Given the description of an element on the screen output the (x, y) to click on. 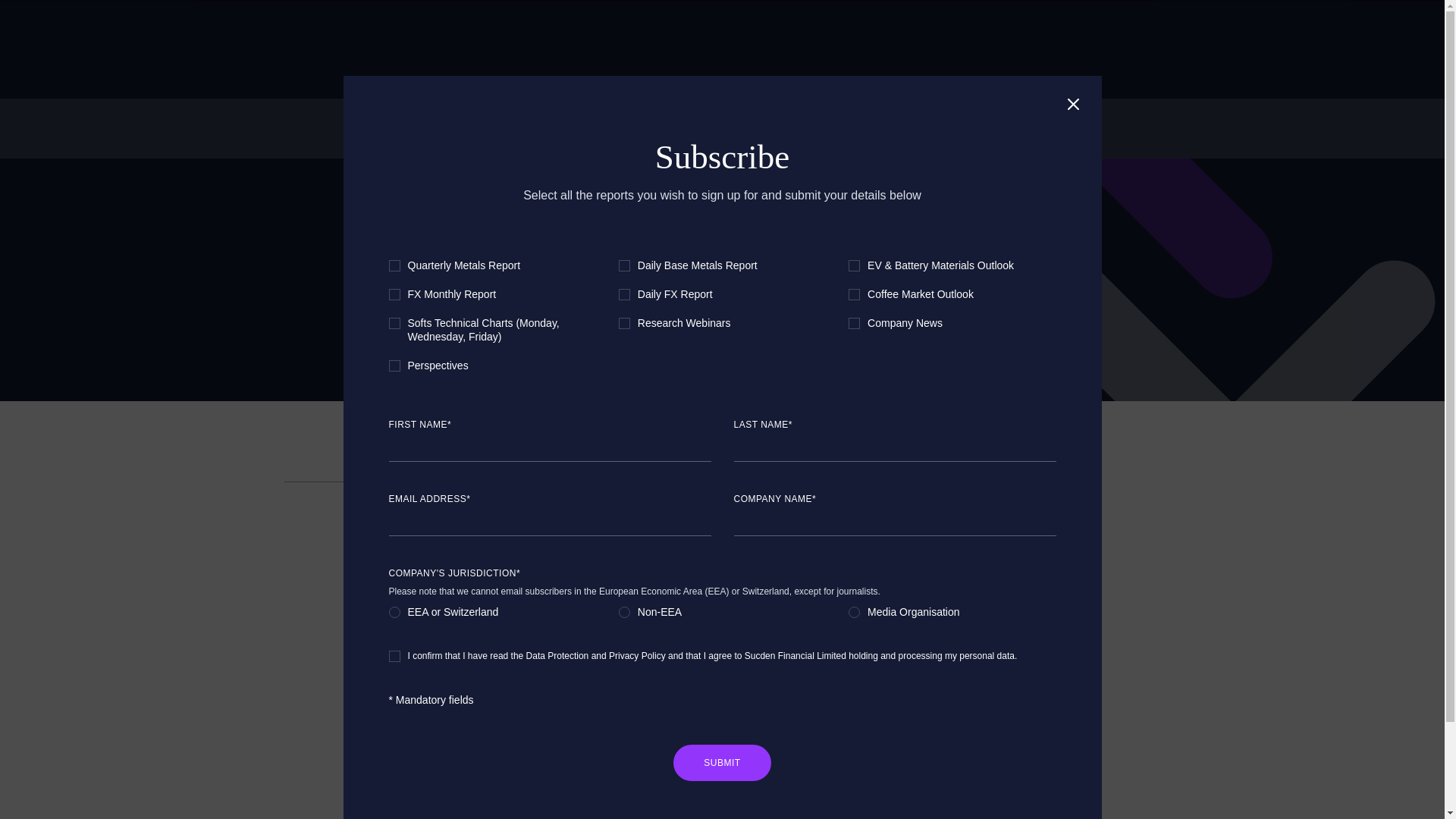
Sucden Financial (356, 52)
Submit (721, 762)
